Given the description of an element on the screen output the (x, y) to click on. 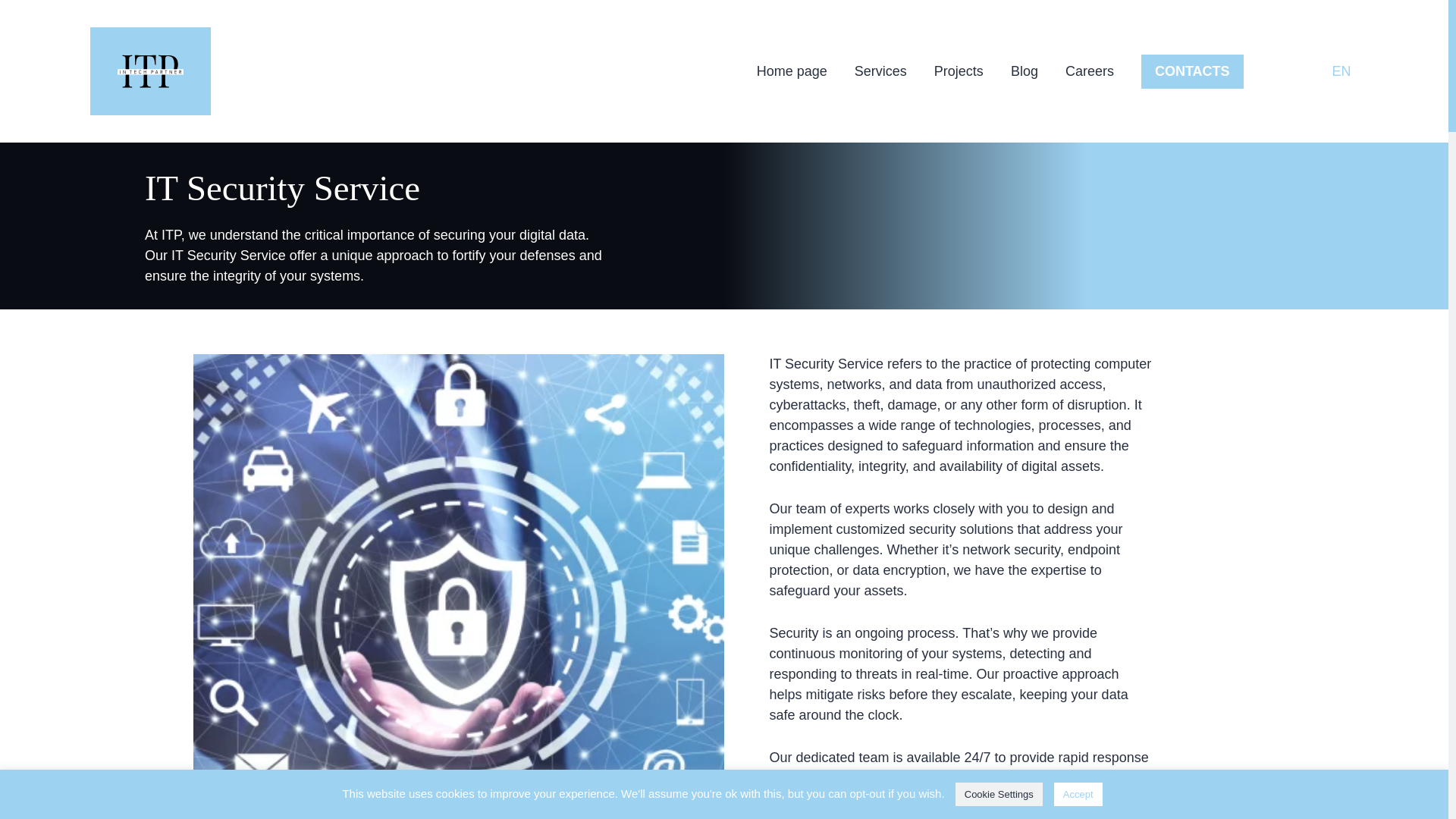
Blog (1024, 70)
Careers (1089, 70)
Accept (1078, 793)
Home page (792, 70)
Cookie Settings (998, 793)
CONTACTS (1192, 71)
Projects (959, 70)
Services (880, 70)
EN (1341, 71)
